Given the description of an element on the screen output the (x, y) to click on. 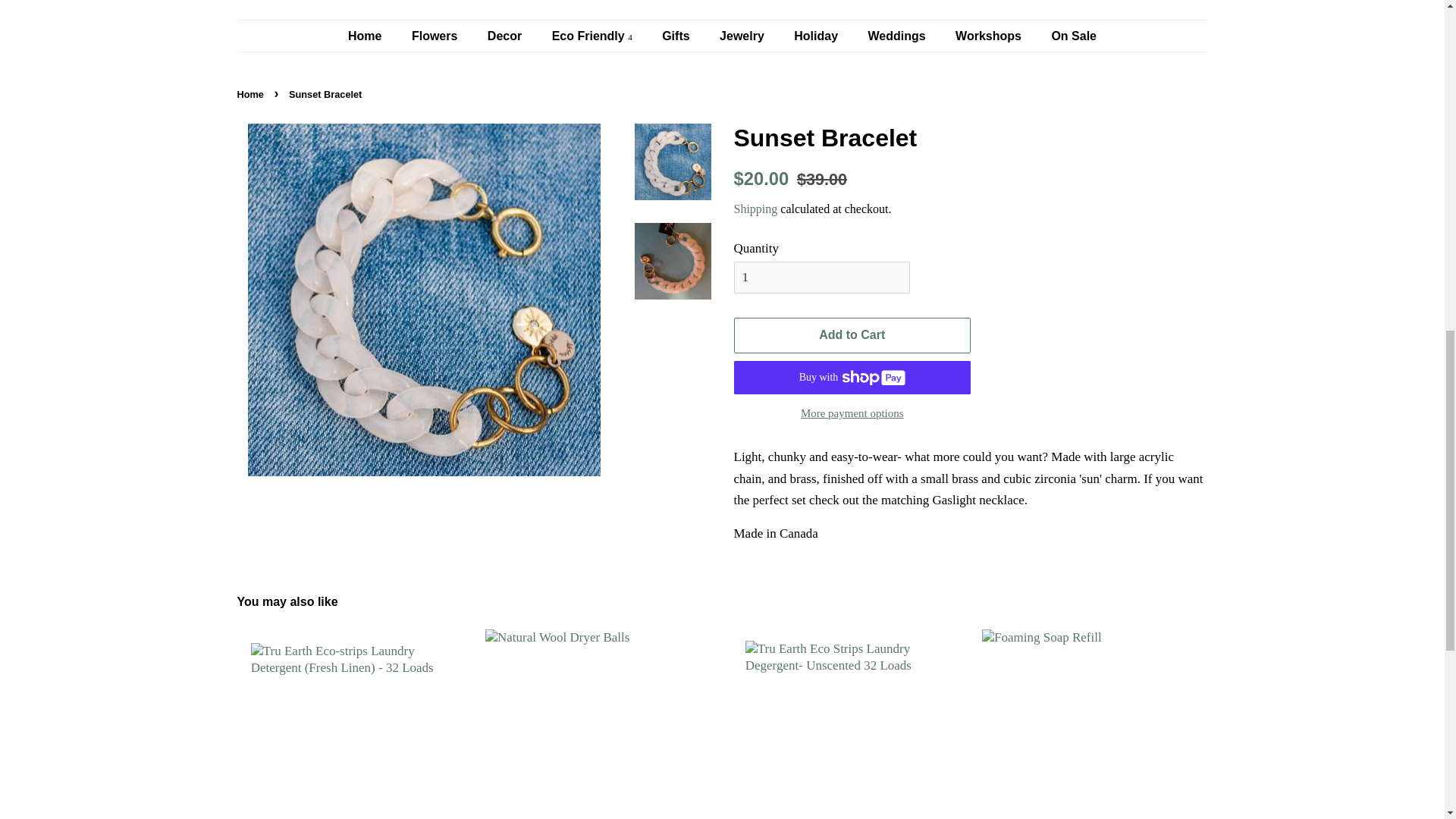
Eco Friendly (593, 35)
Shipping (755, 208)
Decor (506, 35)
Home (371, 35)
Home (250, 93)
1 (821, 277)
Workshops (989, 35)
Weddings (898, 35)
Jewelry (742, 35)
Gifts (677, 35)
